Given the description of an element on the screen output the (x, y) to click on. 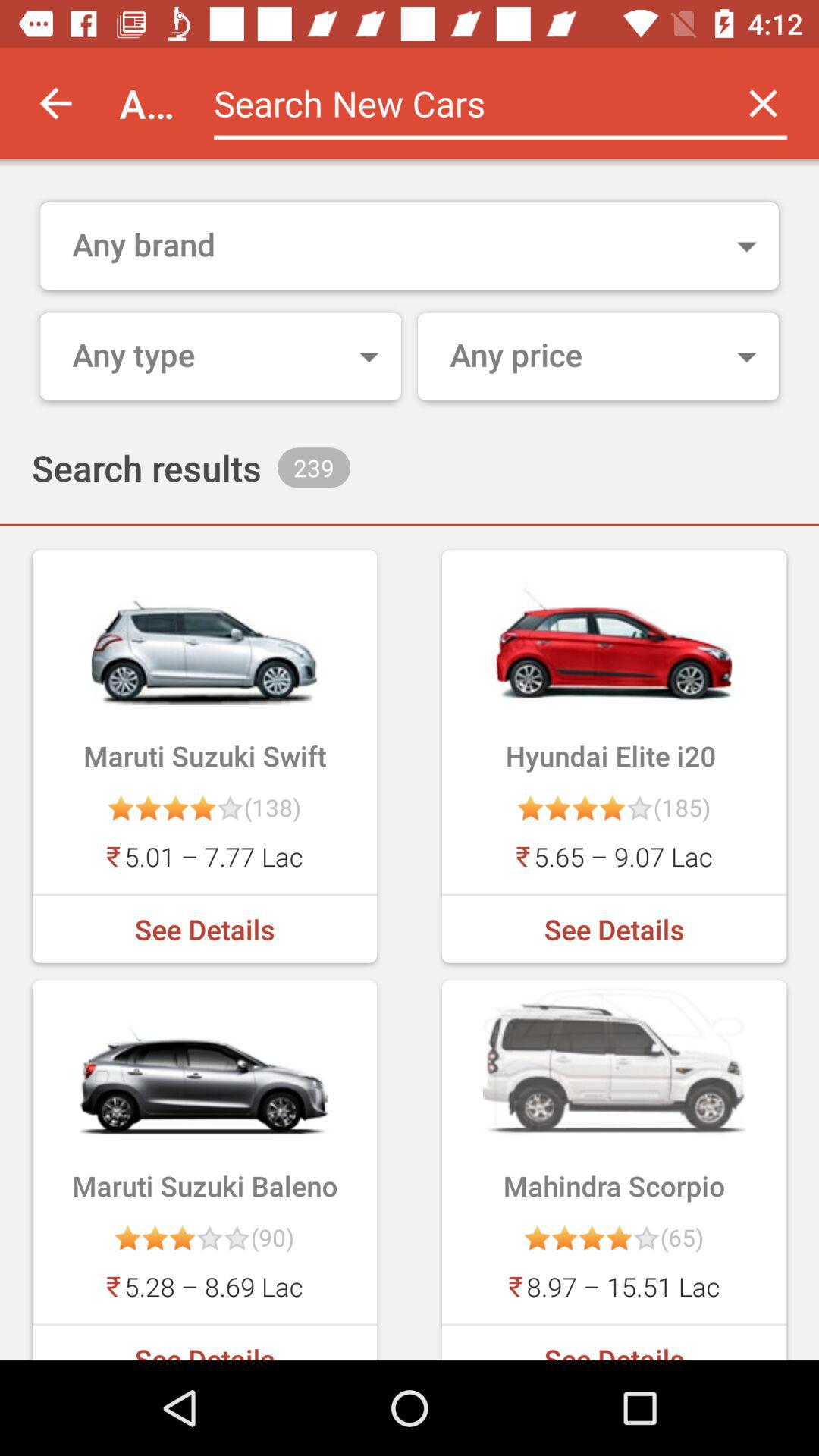
car (460, 103)
